Given the description of an element on the screen output the (x, y) to click on. 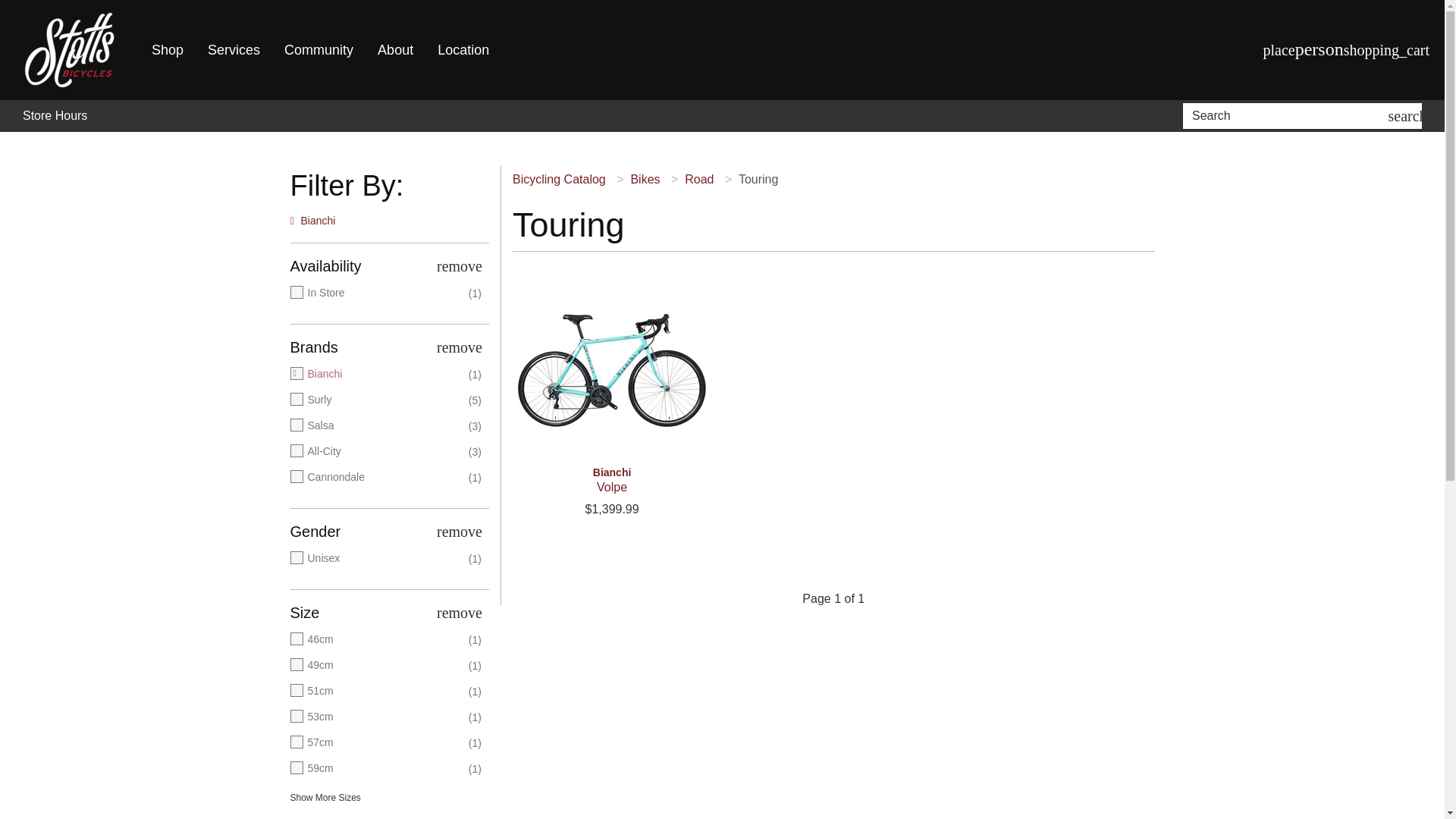
Bianchi Volpe (611, 370)
Store Hours (55, 116)
Account (1319, 49)
Stores (1279, 49)
Shop (167, 50)
Search (1287, 115)
Bianchi Volpe (611, 480)
Stotts Bicycles Home Page (70, 49)
